Given the description of an element on the screen output the (x, y) to click on. 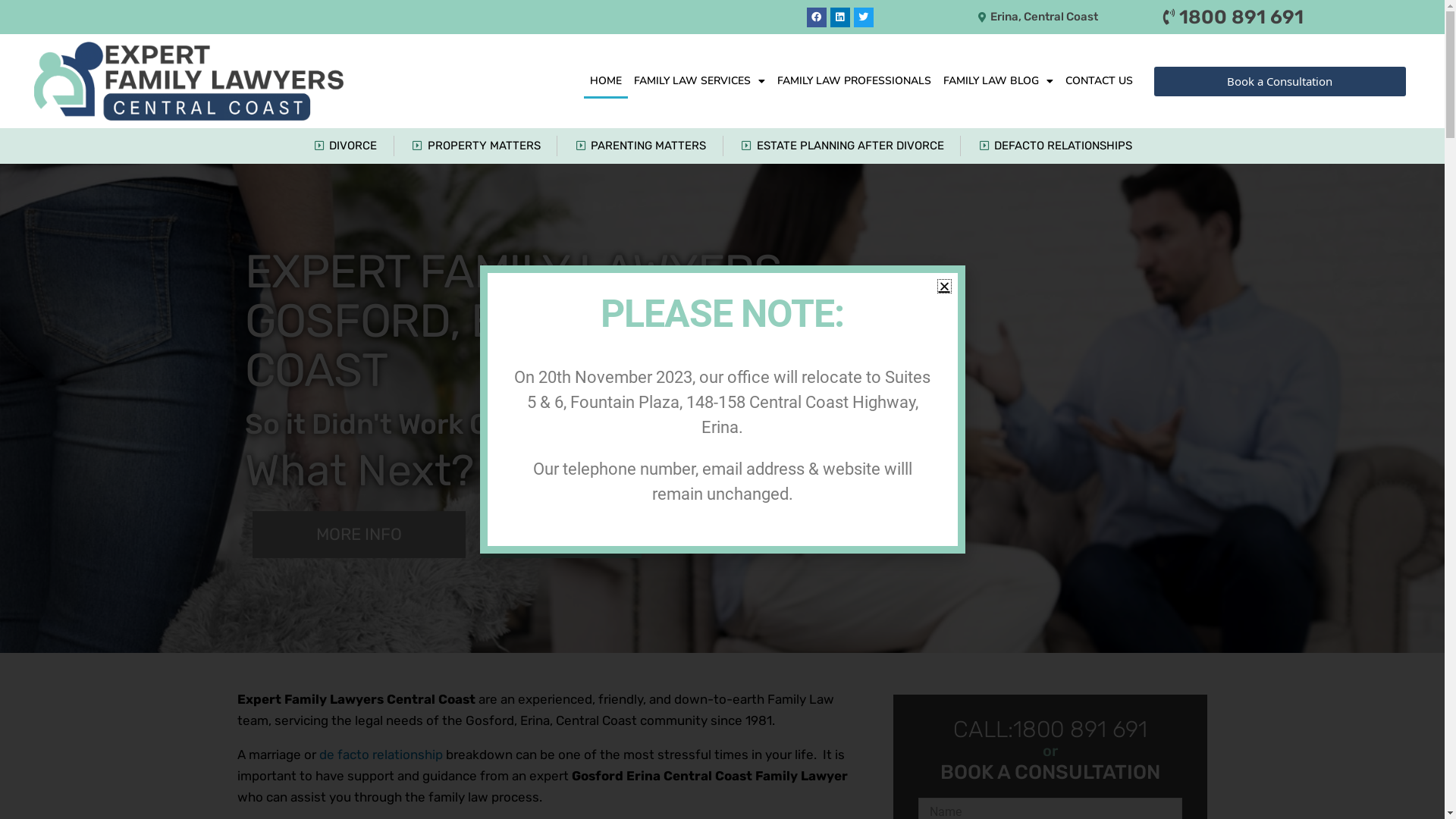
CONTACT US Element type: text (560, 534)
PARENTING MATTERS Element type: text (640, 145)
ESTATE PLANNING AFTER DIVORCE Element type: text (841, 145)
MORE INFO Element type: text (357, 534)
DIVORCE Element type: text (344, 145)
FAMILY LAW SERVICES Element type: text (699, 80)
PROPERTY MATTERS Element type: text (475, 145)
Book a Consultation Element type: text (1279, 81)
de facto relationship Element type: text (380, 753)
HOME Element type: text (605, 80)
FAMILY LAW PROFESSIONALS Element type: text (854, 80)
FAMILY LAW BLOG Element type: text (998, 80)
CONTACT US Element type: text (1099, 80)
DEFACTO RELATIONSHIPS Element type: text (1054, 145)
CALL:1800 891 691 Element type: text (1050, 729)
1800 891 691 Element type: text (1228, 17)
